Given the description of an element on the screen output the (x, y) to click on. 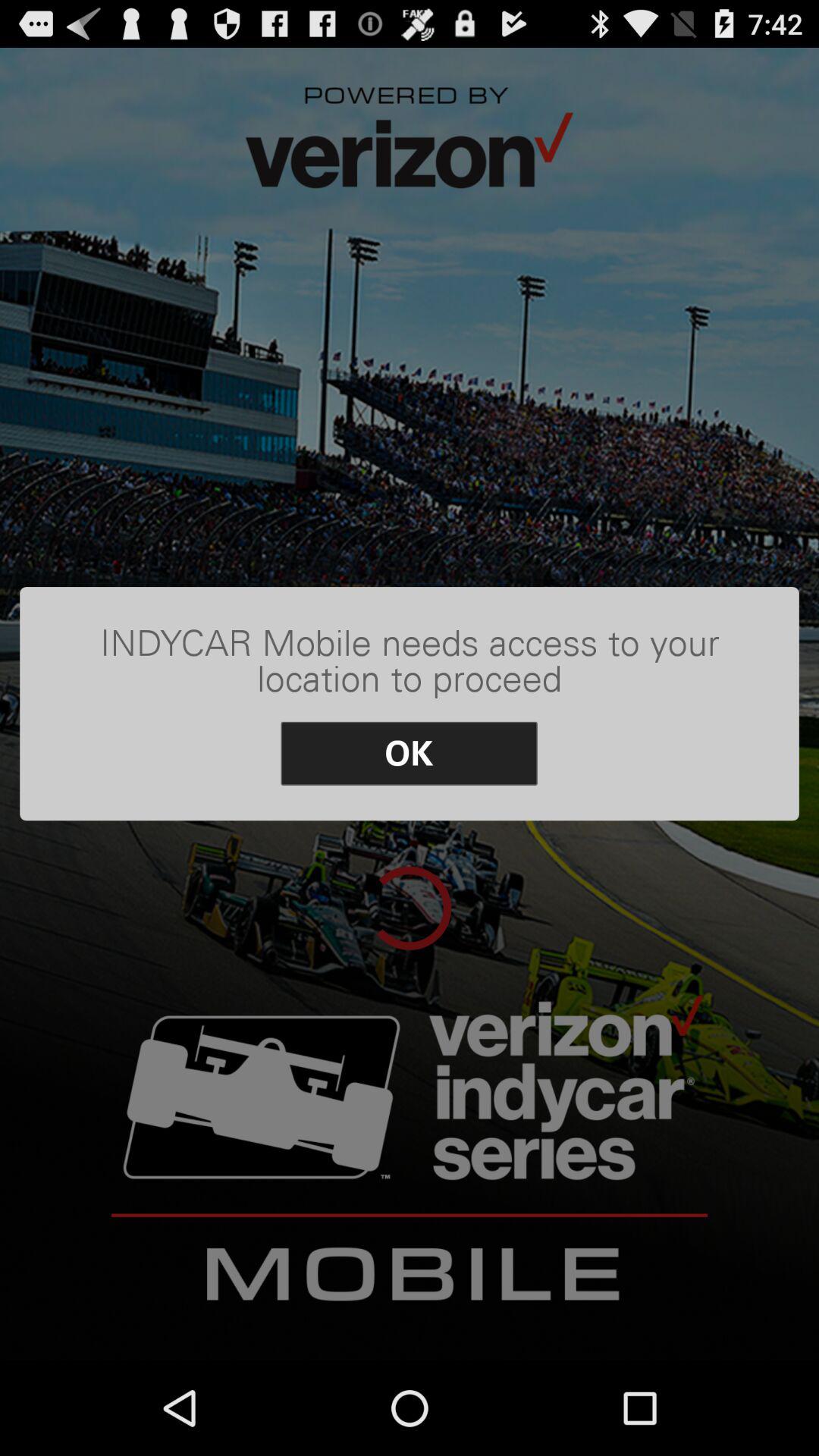
swipe until the ok (408, 753)
